Given the description of an element on the screen output the (x, y) to click on. 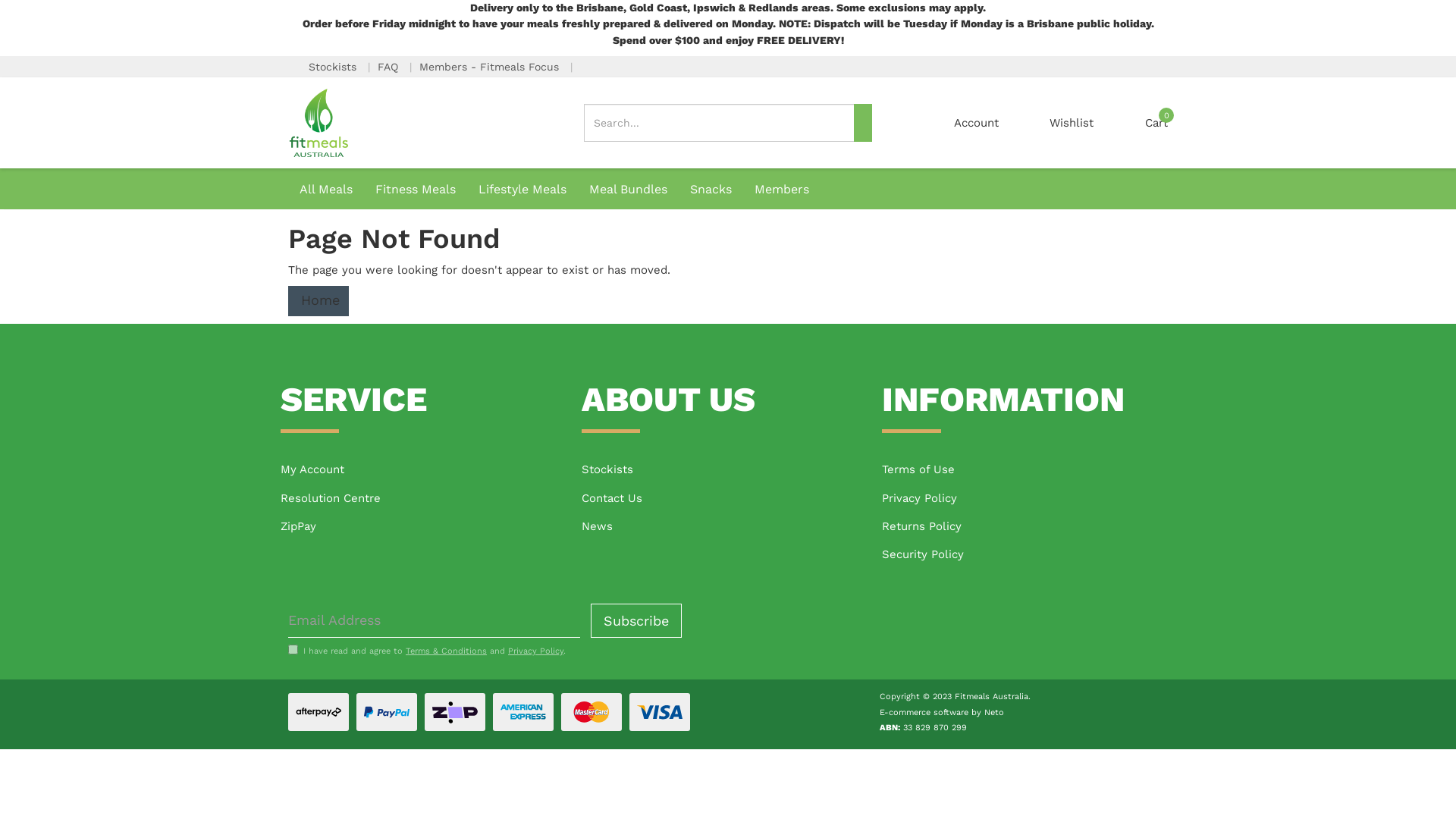
Snacks Element type: text (710, 188)
Security Policy Element type: text (1028, 554)
E-commerce software by Neto Element type: text (941, 712)
Returns Policy Element type: text (1028, 526)
0
Cart Element type: text (1156, 123)
Contact Us Element type: text (728, 498)
My Account Element type: text (427, 469)
Stockists Element type: text (334, 66)
Privacy Policy Element type: text (1028, 498)
All Meals Element type: text (326, 188)
Terms of Use Element type: text (1028, 469)
Account Element type: text (975, 123)
Privacy Policy Element type: text (535, 650)
Lifestyle Meals Element type: text (522, 188)
Resolution Centre Element type: text (427, 498)
Subscribe Element type: text (635, 620)
Stockists Element type: text (728, 469)
Search Element type: text (862, 122)
Wishlist Element type: text (1071, 123)
Fitness Meals Element type: text (415, 188)
ZipPay Element type: text (427, 526)
Members - Fitmeals Focus Element type: text (490, 66)
FAQ Element type: text (389, 66)
Home Element type: text (318, 300)
News Element type: text (728, 526)
Fitmeals Australia Element type: hover (318, 121)
Members Element type: text (781, 188)
Terms & Conditions Element type: text (445, 650)
Meal Bundles Element type: text (627, 188)
